Given the description of an element on the screen output the (x, y) to click on. 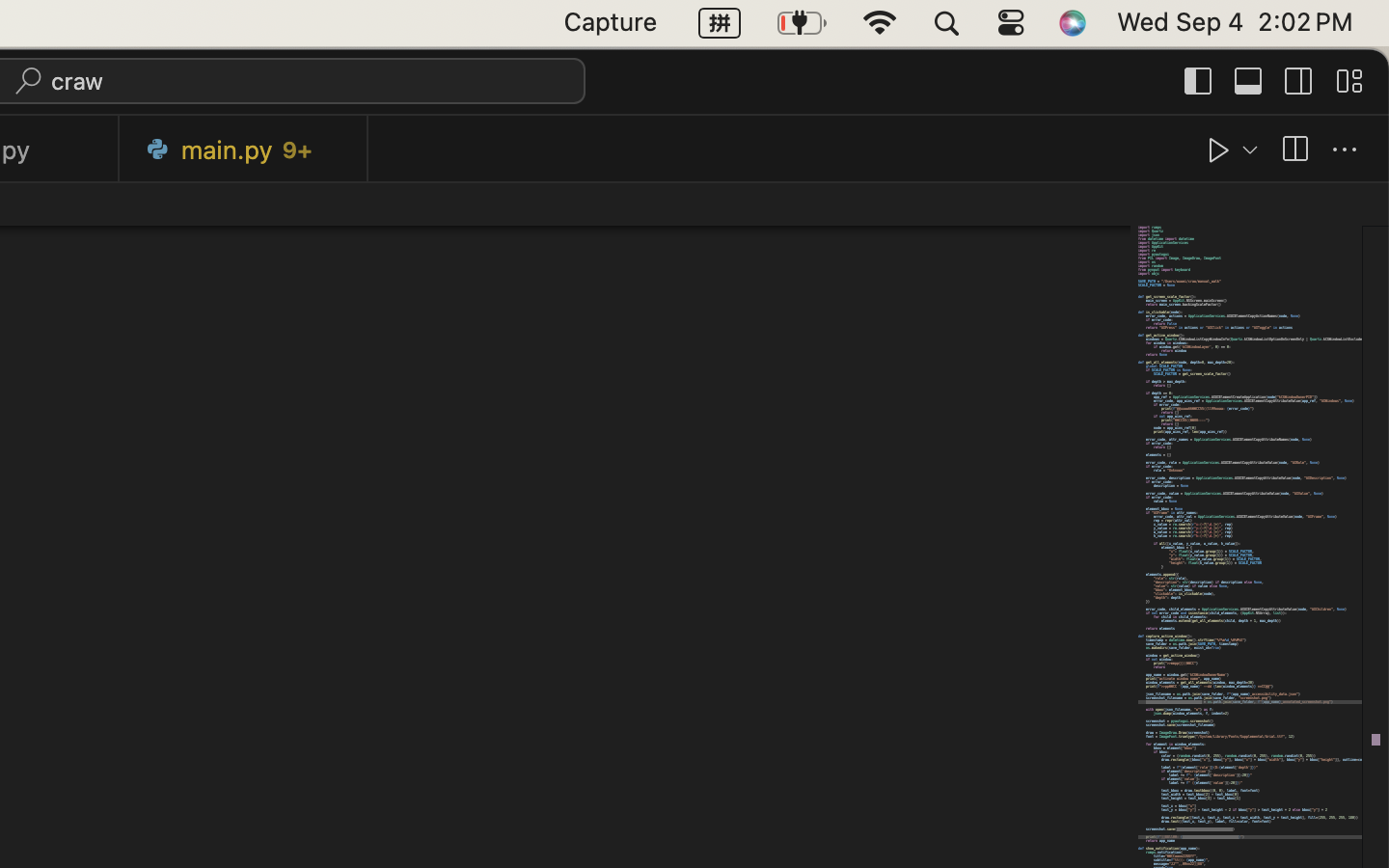
 Element type: AXCheckBox (1198, 80)
 Element type: AXCheckBox (1248, 80)
craw Element type: AXStaticText (78, 80)
 Element type: AXButton (1219, 150)
 Element type: AXCheckBox (1299, 80)
